Given the description of an element on the screen output the (x, y) to click on. 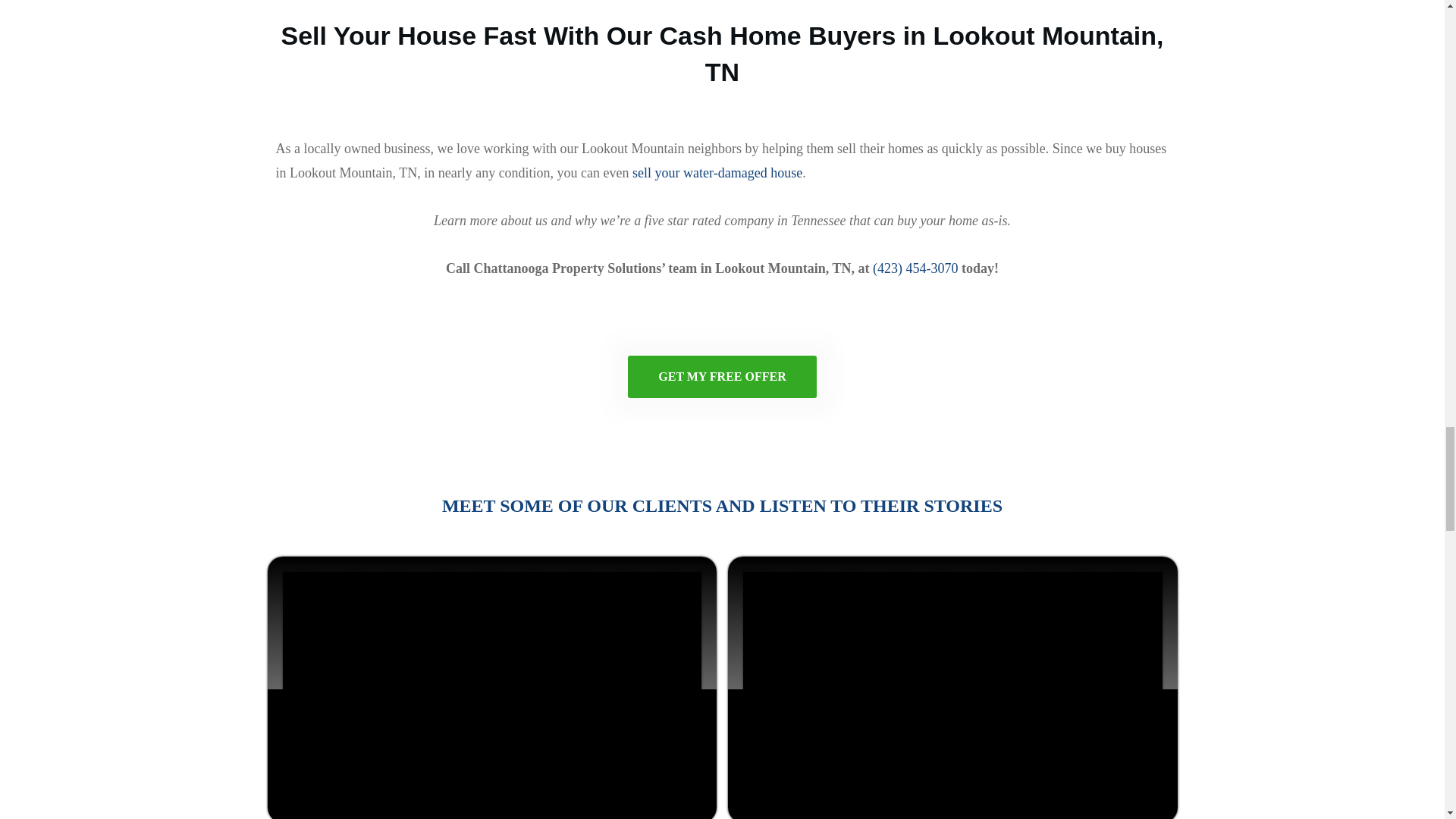
sell your water-damaged house (716, 172)
Responsive Video (491, 689)
GET MY FREE OFFER (721, 376)
Responsive Video (951, 689)
